Given the description of an element on the screen output the (x, y) to click on. 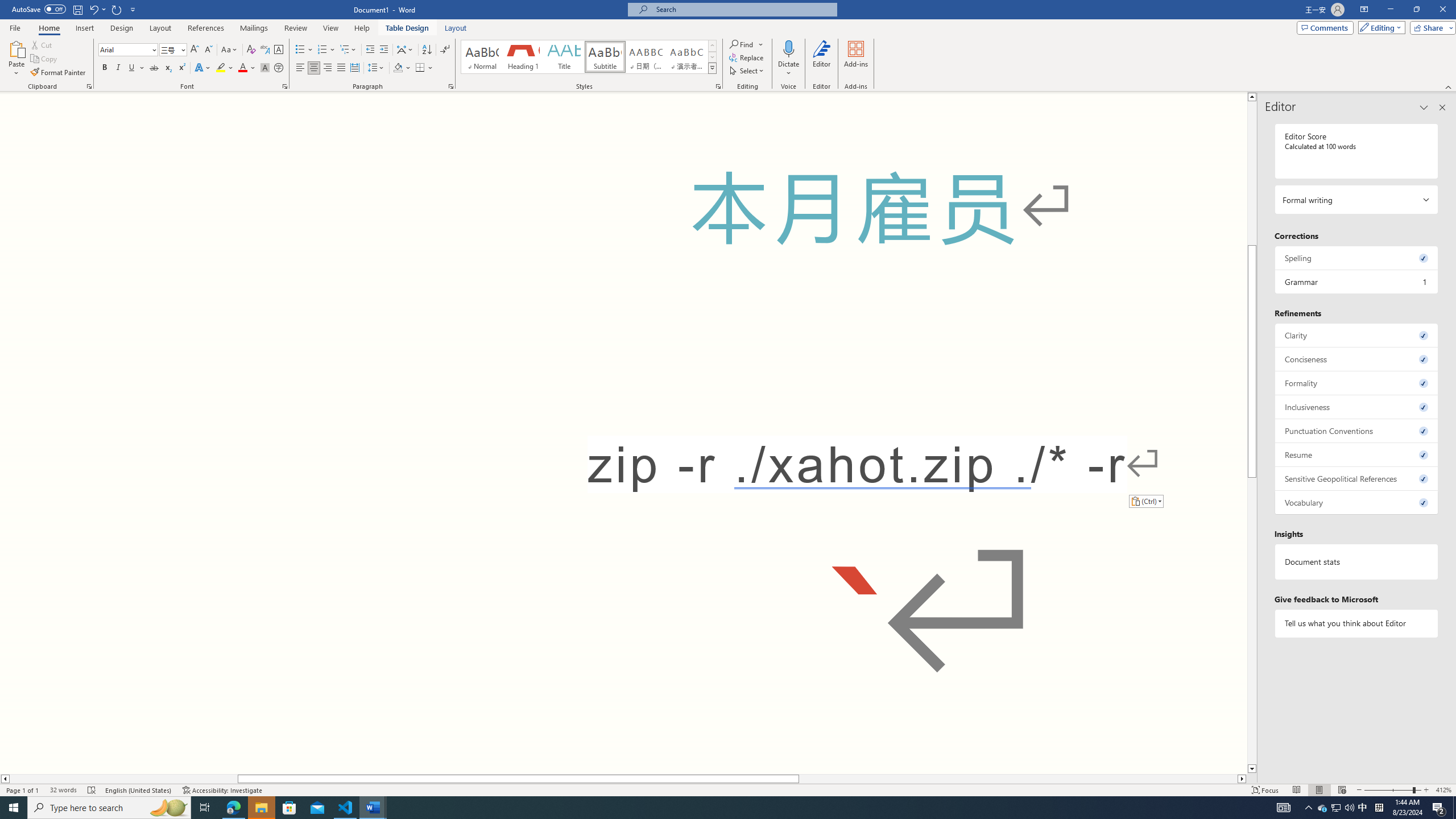
Clarity, 0 issues. Press space or enter to review items. (1356, 335)
Styles (711, 67)
Page 1 content (623, 432)
Open (182, 49)
Align Right (327, 67)
Bold (104, 67)
Page right (1018, 778)
Office Clipboard... (88, 85)
Document statistics (1356, 561)
